Given the description of an element on the screen output the (x, y) to click on. 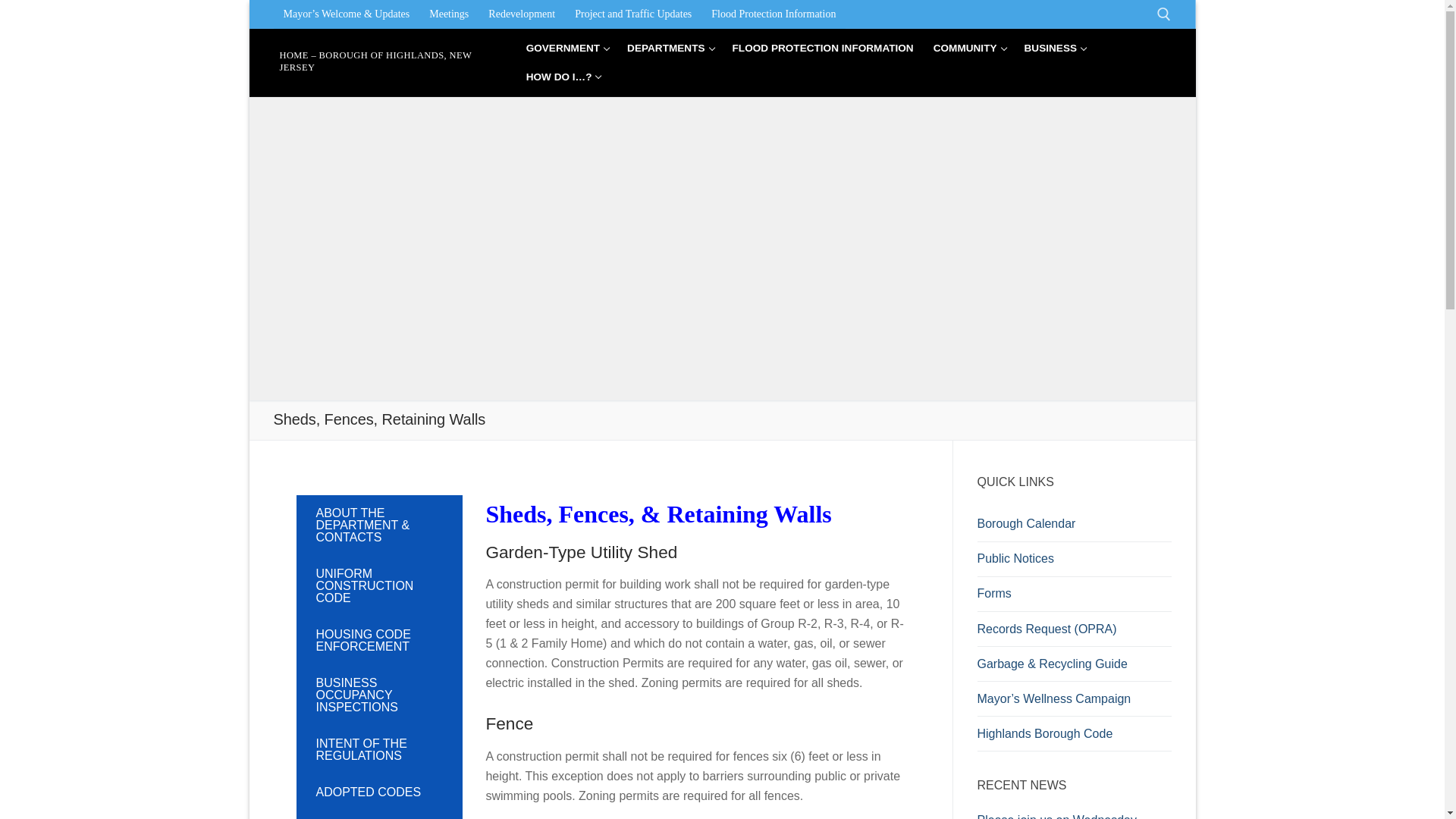
Meetings (449, 14)
Project and Traffic Updates (632, 14)
Redevelopment (521, 14)
